Given the description of an element on the screen output the (x, y) to click on. 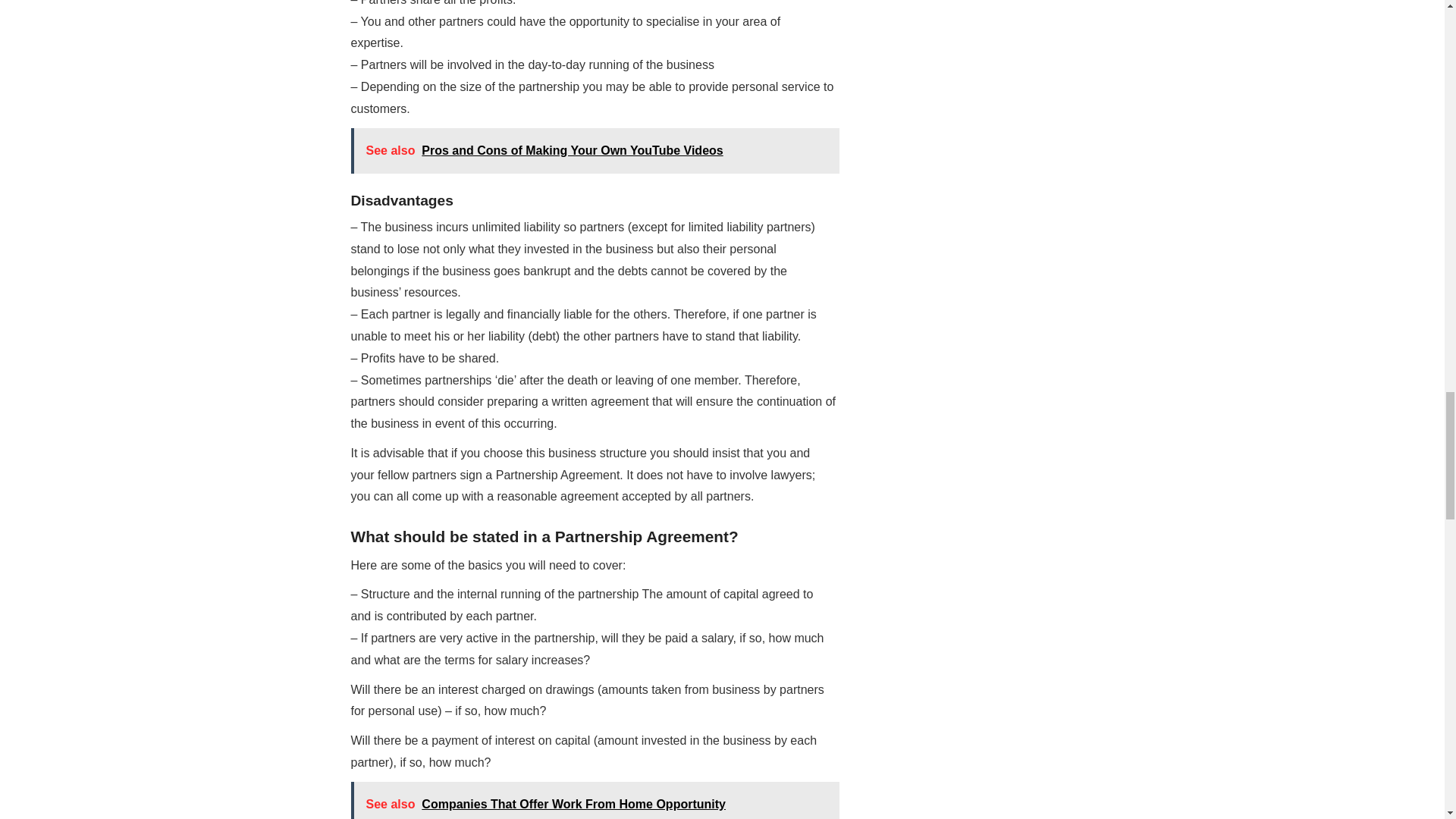
See also  Pros and Cons of Making Your Own YouTube Videos (594, 150)
See also  Companies That Offer Work From Home Opportunity (594, 800)
